Given the description of an element on the screen output the (x, y) to click on. 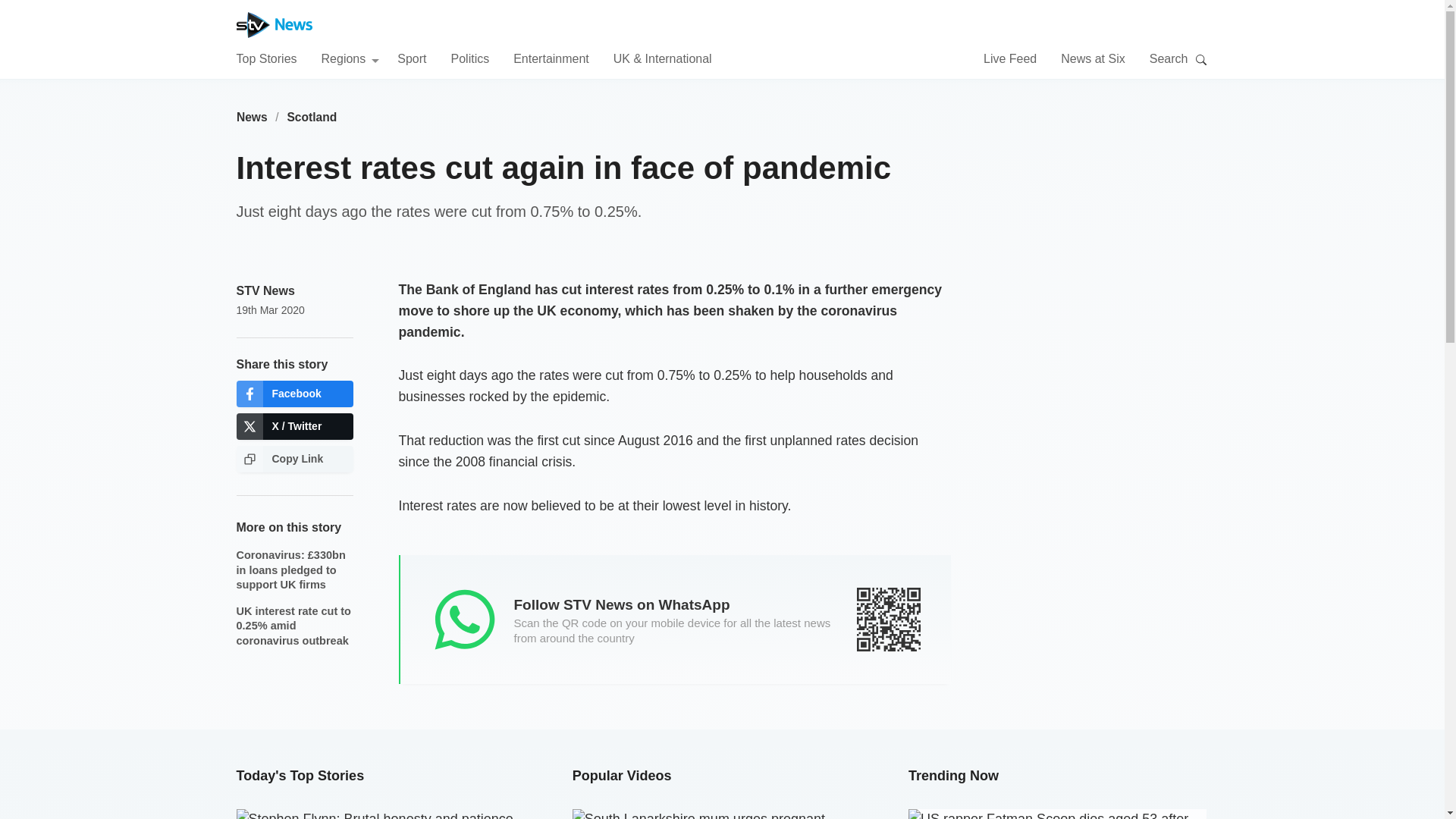
Politics (469, 57)
Live Feed (1010, 57)
News (252, 116)
Regions (350, 57)
Entertainment (551, 57)
Scotland (312, 116)
Search (1201, 59)
News at Six (1092, 57)
Top Stories (266, 57)
Facebook (294, 393)
